Given the description of an element on the screen output the (x, y) to click on. 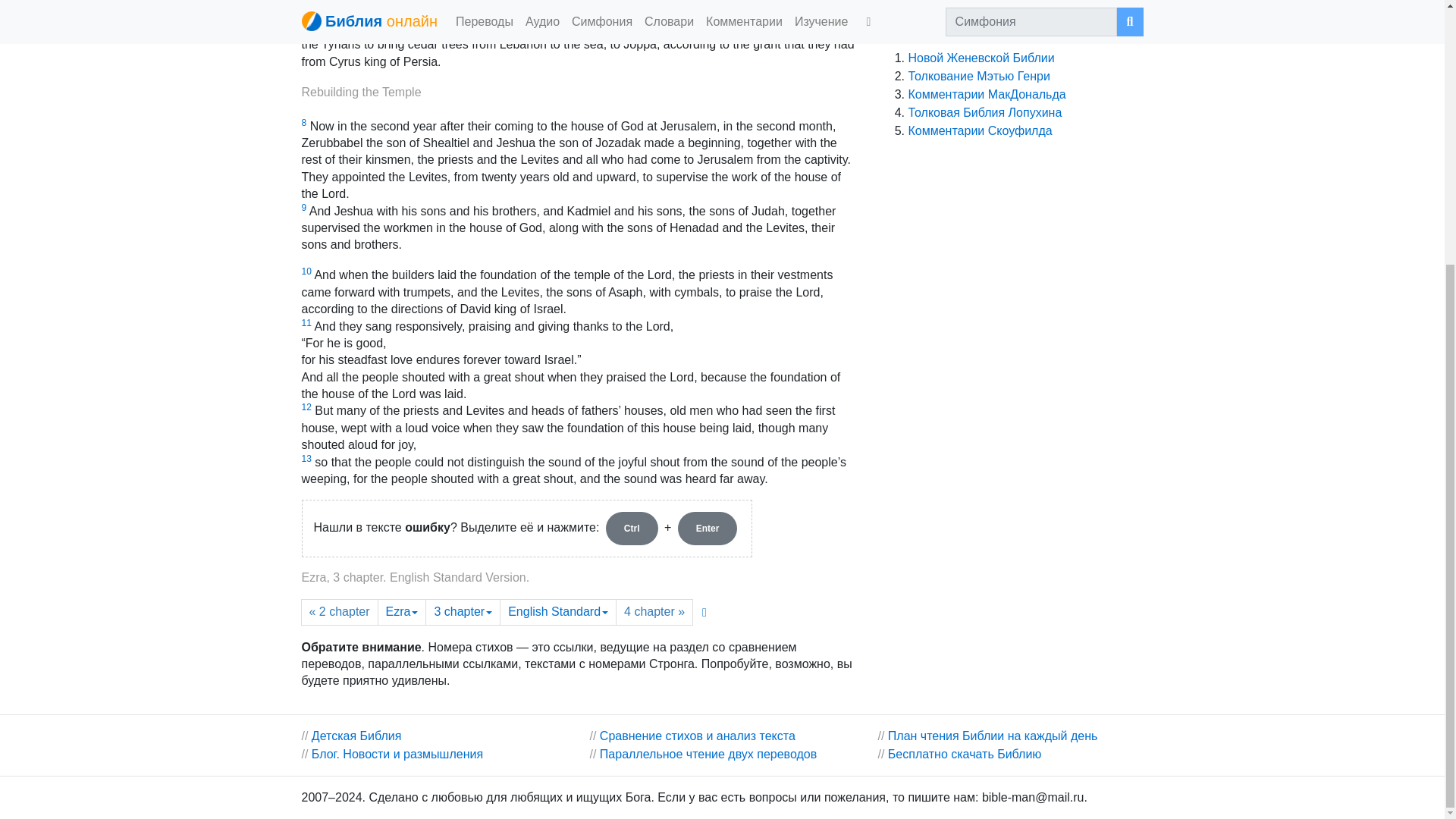
10 (306, 271)
13 (306, 458)
11 (306, 322)
12 (306, 407)
